Given the description of an element on the screen output the (x, y) to click on. 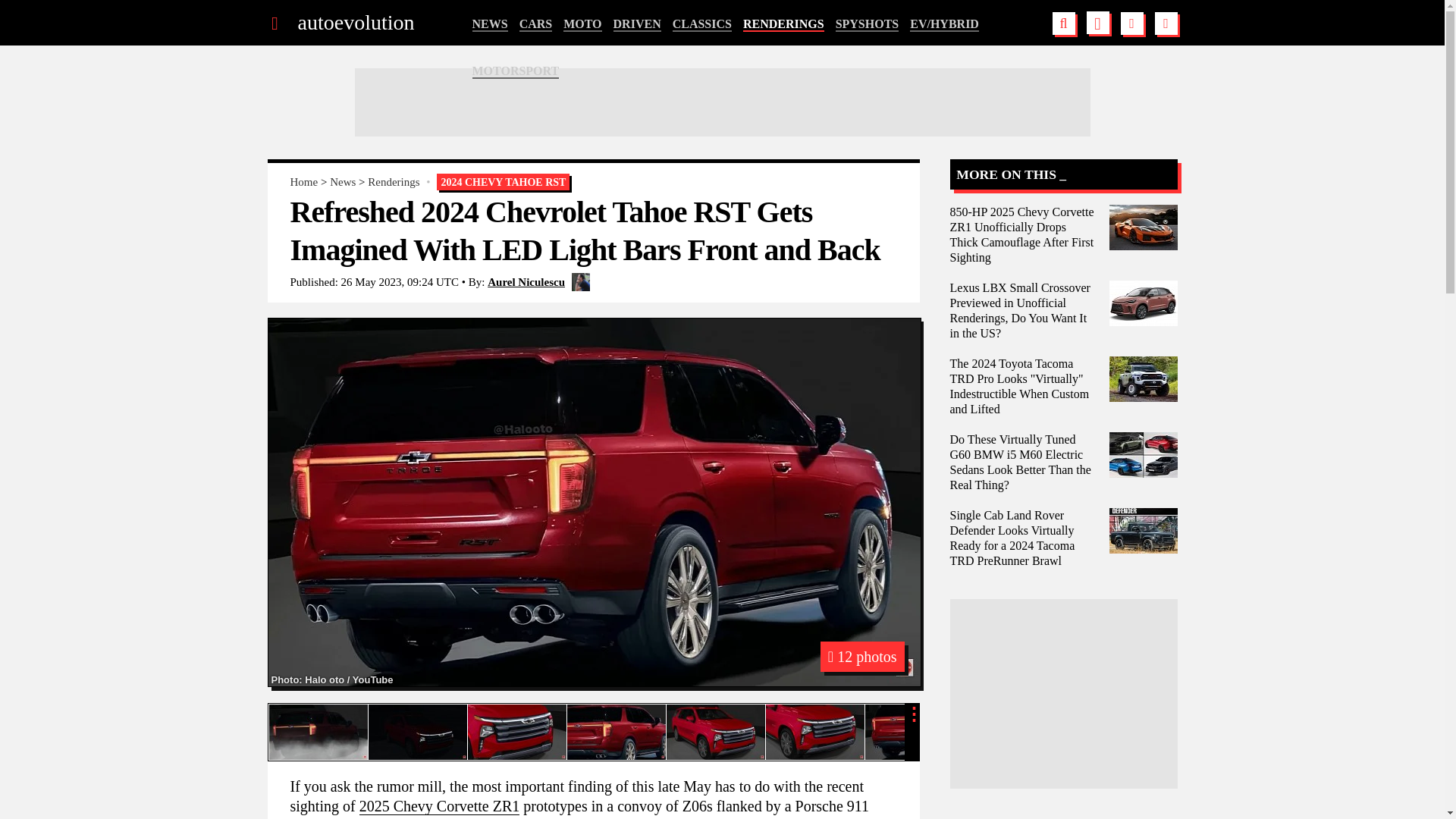
autoevolution (355, 22)
Renderings (393, 182)
SPYSHOTS (867, 24)
NEWS (488, 24)
CLASSICS (702, 24)
MOTORSPORT (515, 71)
CARS (536, 24)
RENDERINGS (783, 24)
Home (303, 182)
News (342, 182)
